Given the description of an element on the screen output the (x, y) to click on. 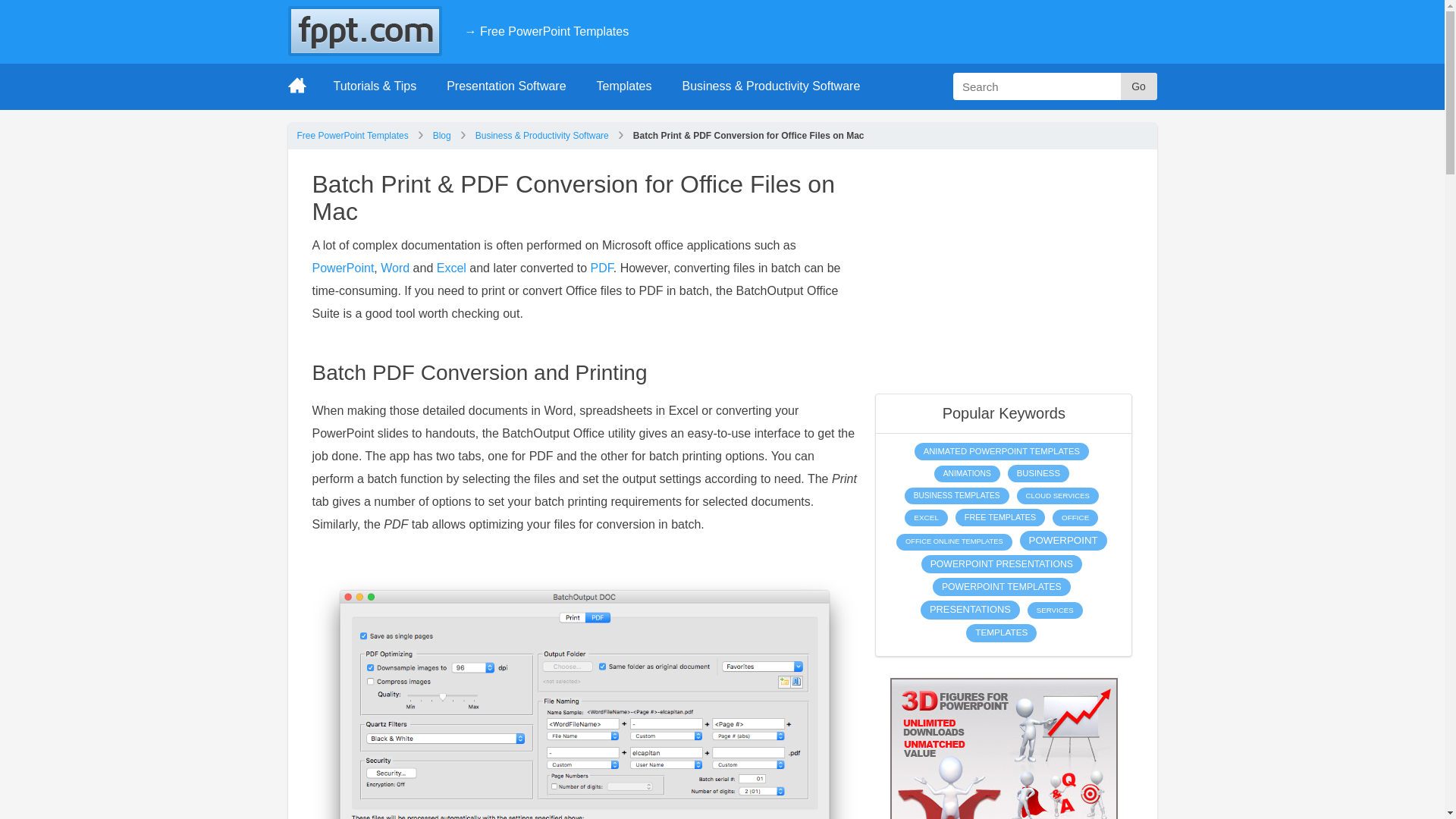
Templates (623, 85)
Free PowerPoint Templates (353, 135)
PDF (601, 267)
Go (1139, 85)
Blog (441, 135)
Go (1139, 85)
Go (1139, 85)
Word (394, 267)
Back to Free PowerPoint Templates (546, 31)
Presentation Software (505, 85)
Excel (450, 267)
PowerPoint (343, 267)
